Given the description of an element on the screen output the (x, y) to click on. 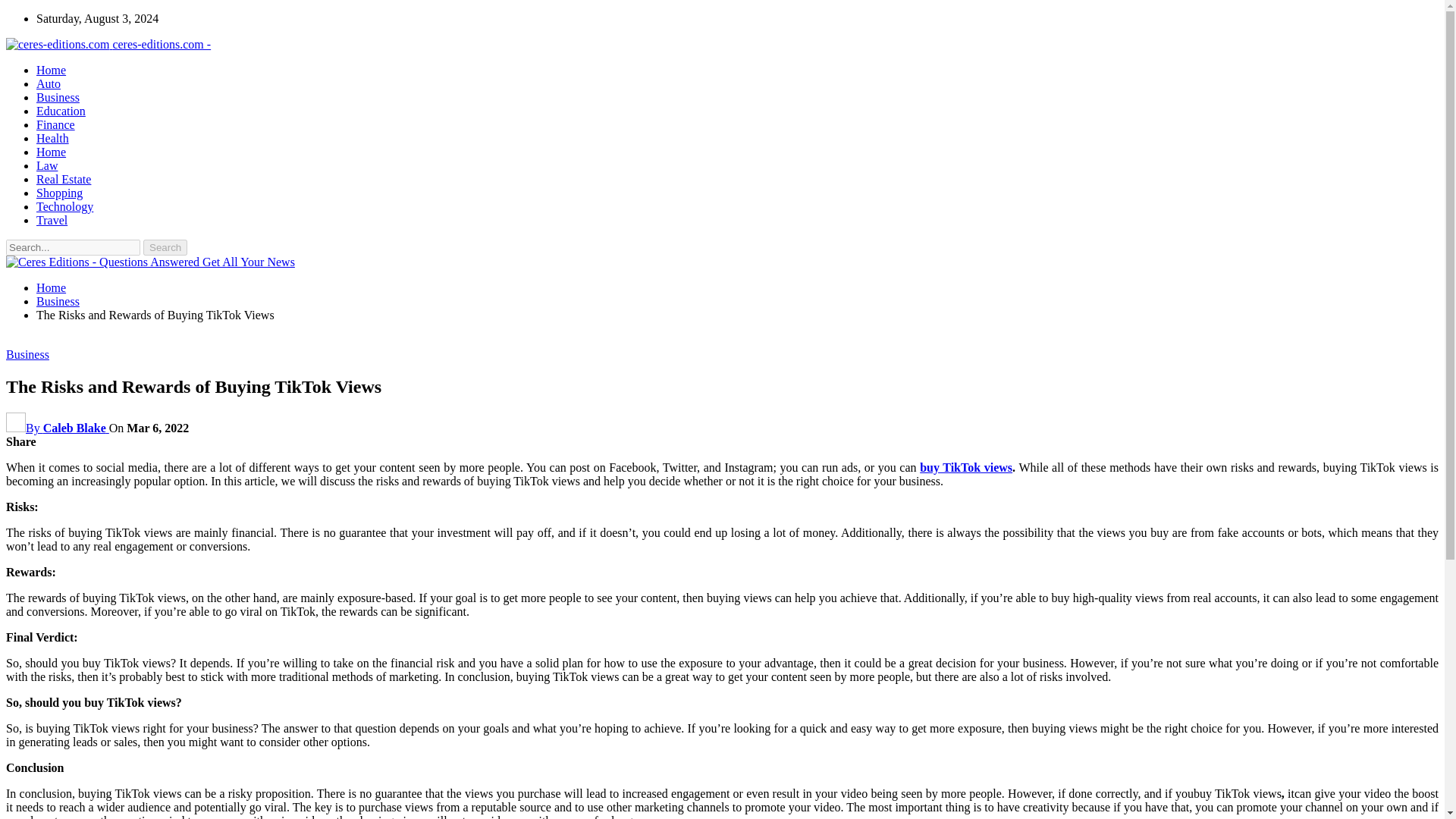
Real Estate (63, 178)
Education (60, 110)
Travel (51, 219)
Home (50, 287)
ceres-editions.com - (108, 43)
Business (27, 354)
Finance (55, 124)
Search (164, 247)
Shopping (59, 192)
Search (164, 247)
